Given the description of an element on the screen output the (x, y) to click on. 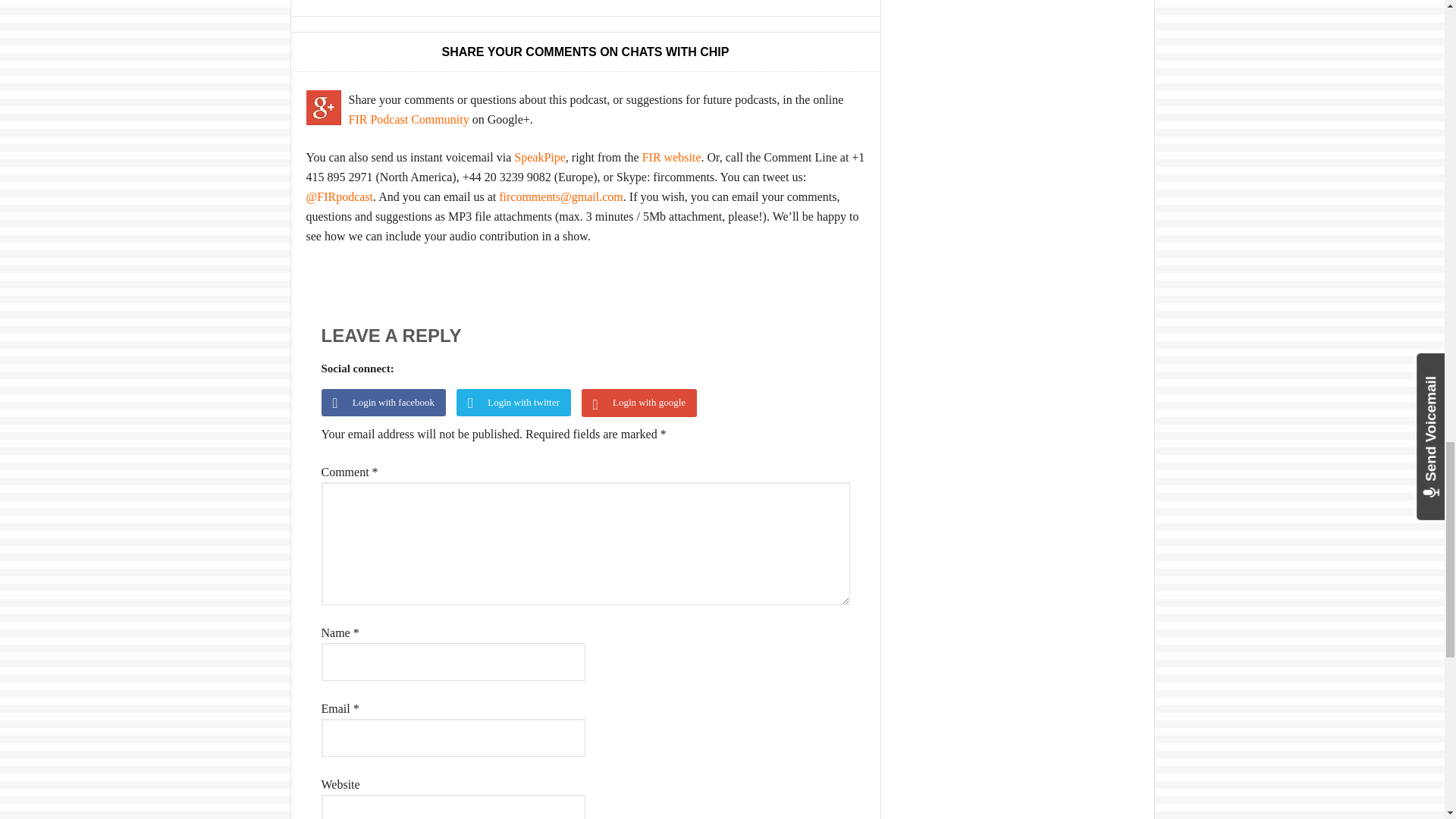
Login with facebook (389, 404)
FIR Podcast Community (408, 119)
SpeakPipe (539, 156)
Login with twitter (518, 404)
Login with google (642, 404)
